Given the description of an element on the screen output the (x, y) to click on. 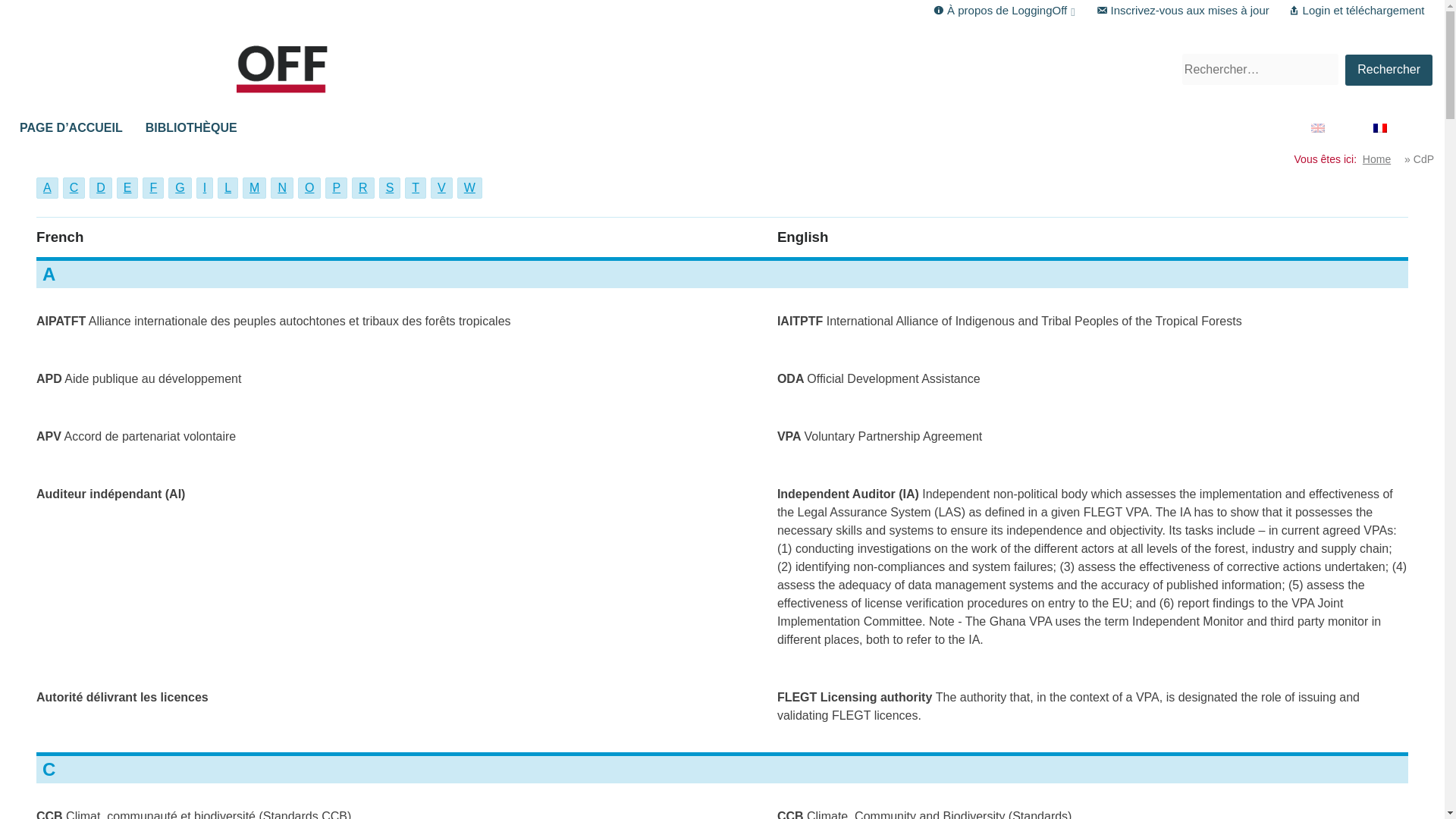
A (47, 188)
D (100, 188)
L (227, 188)
V (441, 188)
E (127, 188)
T (415, 188)
English (1337, 127)
S (389, 188)
Rechercher (1388, 69)
C (73, 188)
Rechercher (1388, 69)
G (179, 188)
Rechercher (1388, 69)
M (254, 188)
O (309, 188)
